Given the description of an element on the screen output the (x, y) to click on. 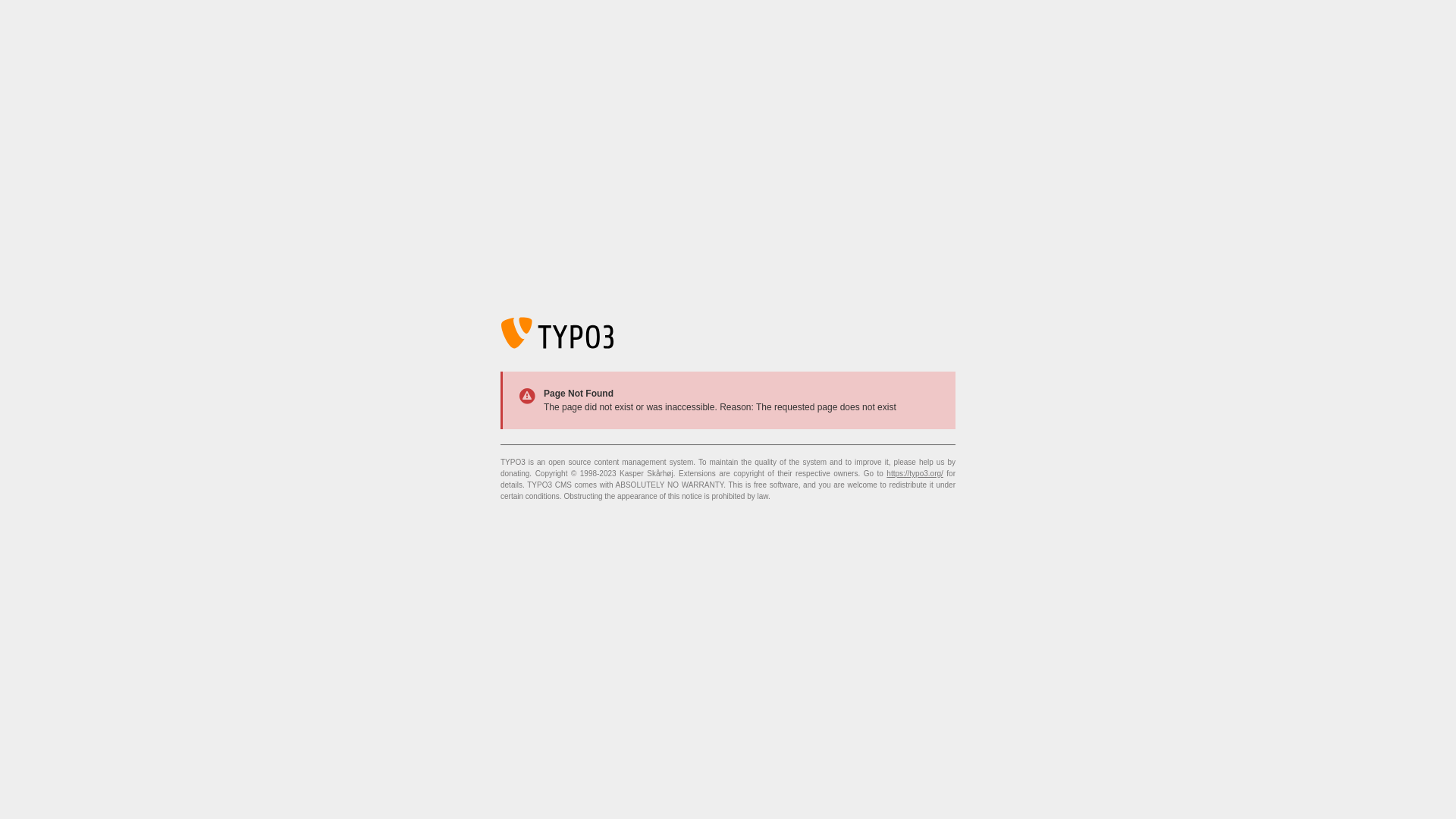
https://typo3.org/ Element type: text (914, 473)
